Given the description of an element on the screen output the (x, y) to click on. 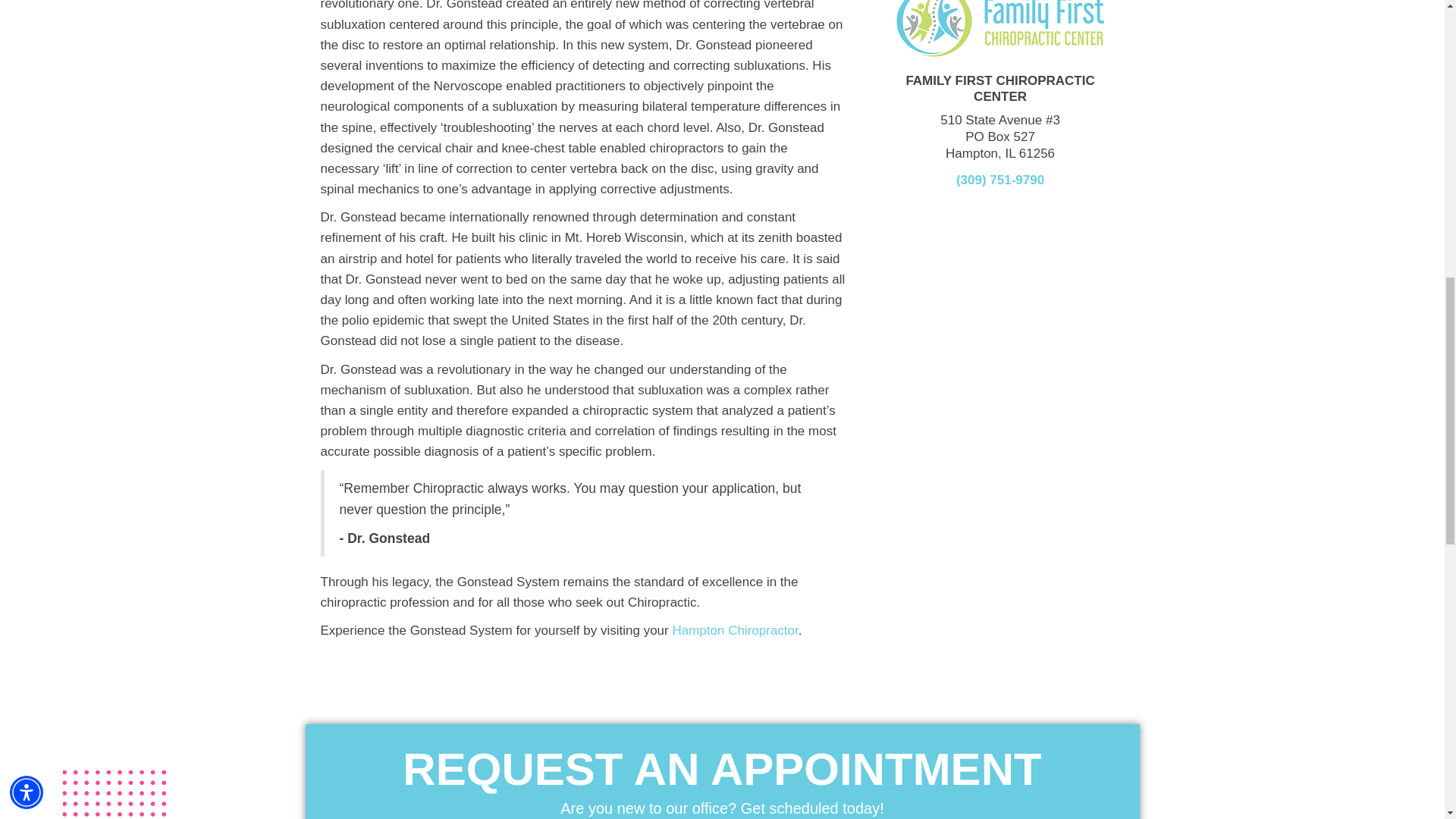
Chiropractic Hampton IL Family First Chiropractic Center (999, 29)
